Given the description of an element on the screen output the (x, y) to click on. 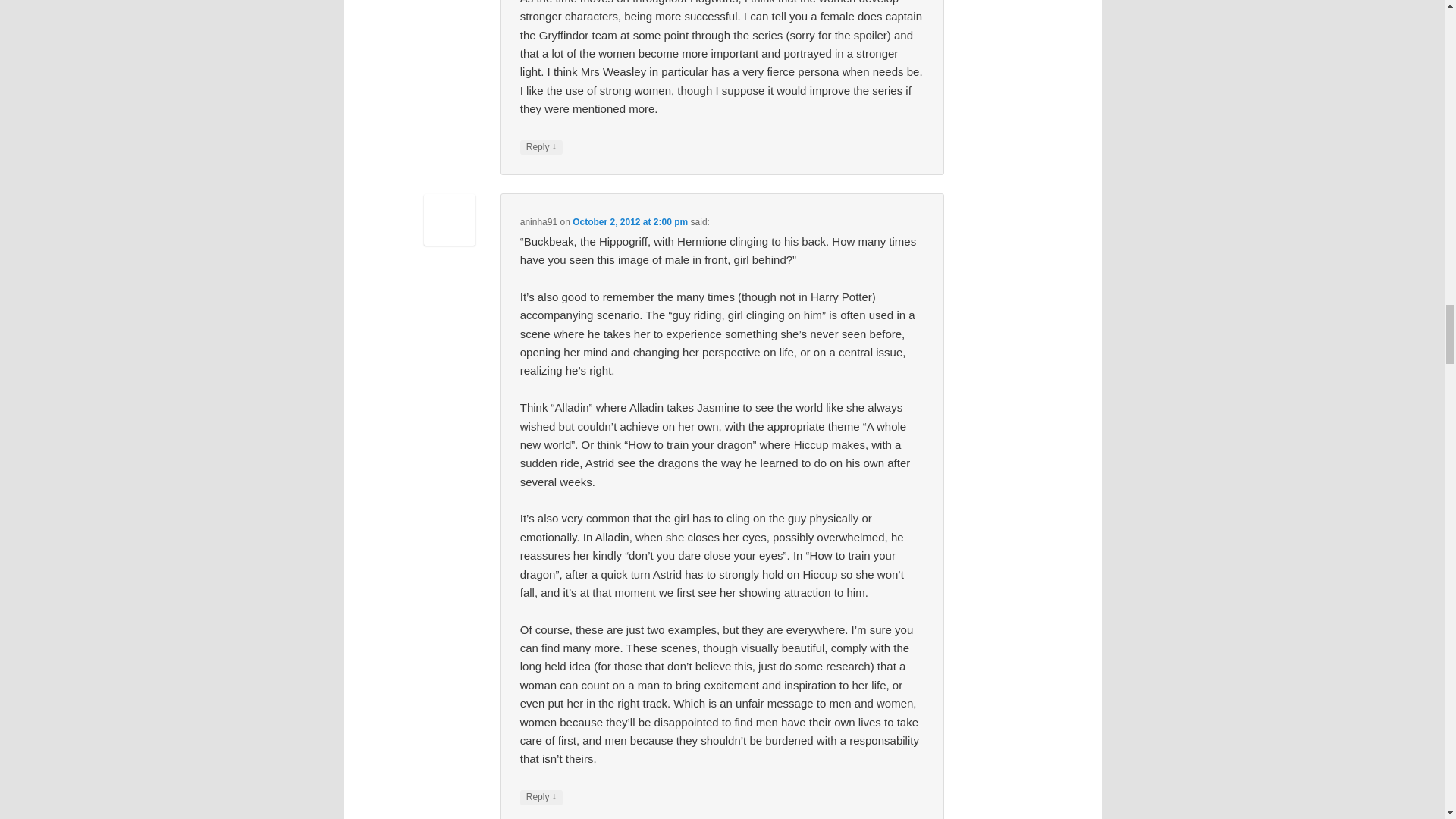
October 2, 2012 at 2:00 pm (629, 222)
